Given the description of an element on the screen output the (x, y) to click on. 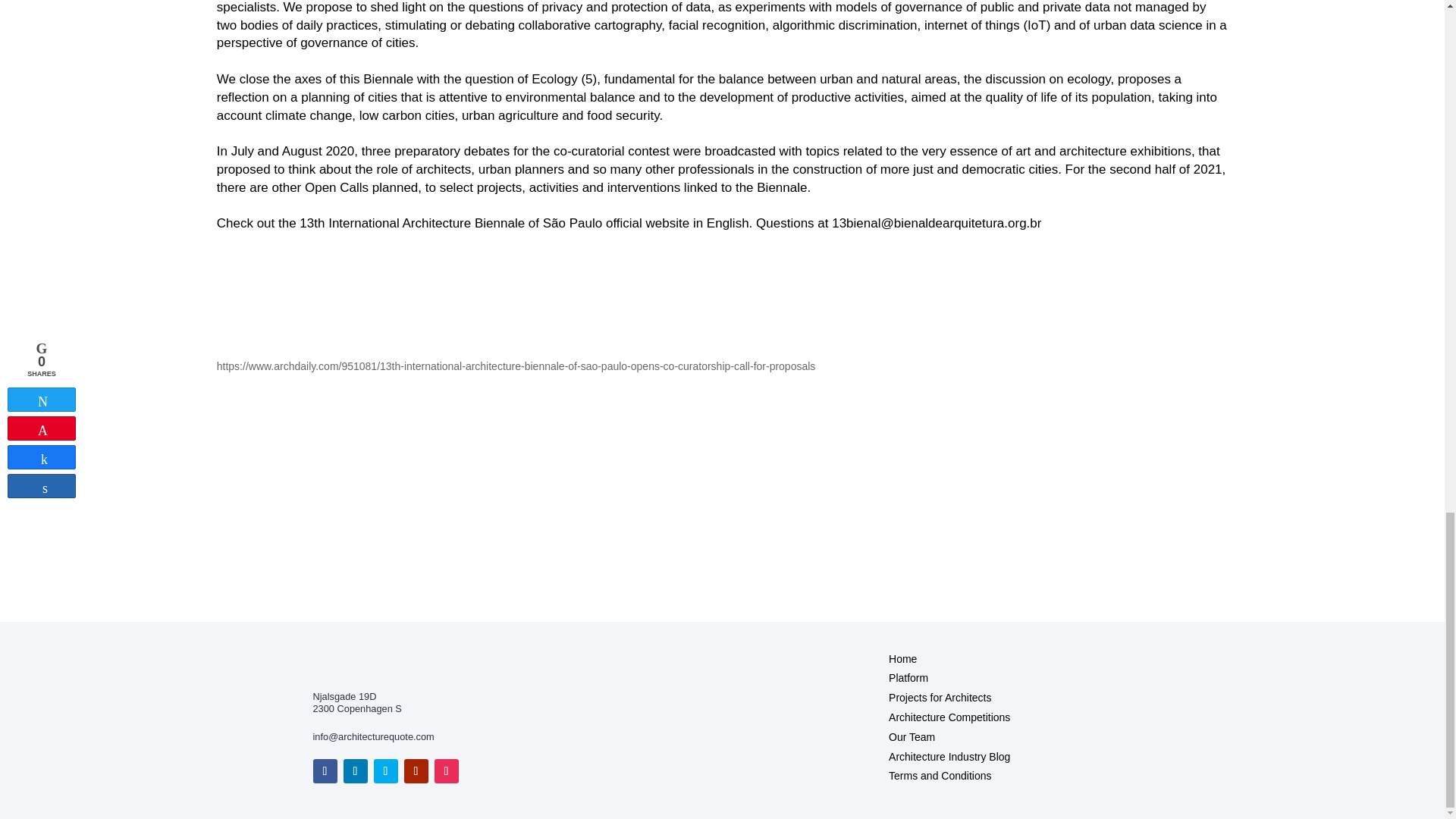
Follow on Instagram (445, 770)
Follow on Youtube (415, 770)
Follow on Twitter (384, 770)
Follow on LinkedIn (354, 770)
Follow on Facebook (324, 770)
